Given the description of an element on the screen output the (x, y) to click on. 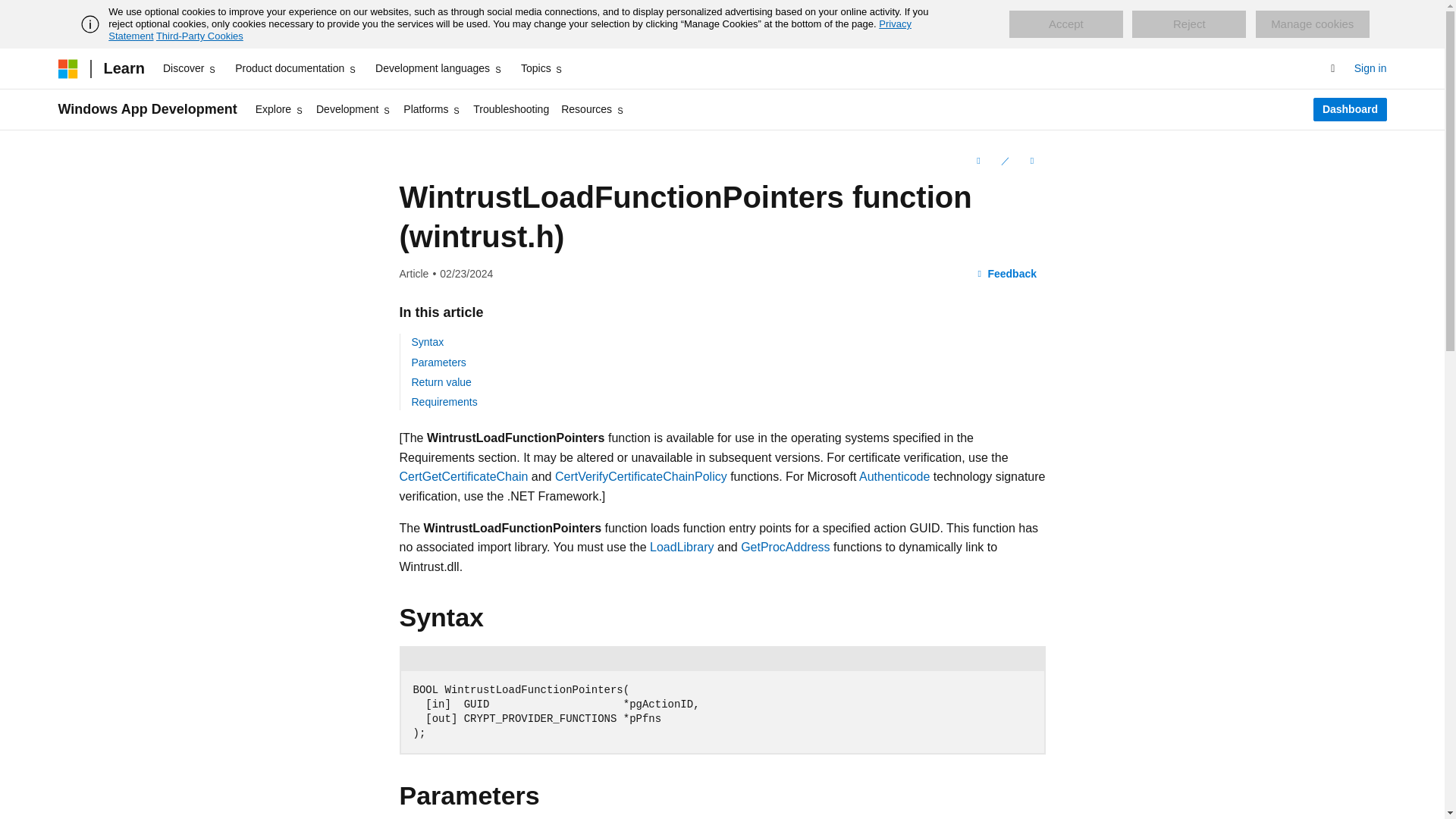
Windows App Development (146, 109)
Development (353, 109)
Development languages (438, 68)
Sign in (1370, 68)
Topics (542, 68)
Reject (1189, 23)
Privacy Statement (509, 29)
More actions (1031, 160)
Explore (279, 109)
Manage cookies (1312, 23)
Accept (1065, 23)
Edit This Document (1004, 160)
Product documentation (295, 68)
Skip to main content (11, 11)
Learn (123, 68)
